Given the description of an element on the screen output the (x, y) to click on. 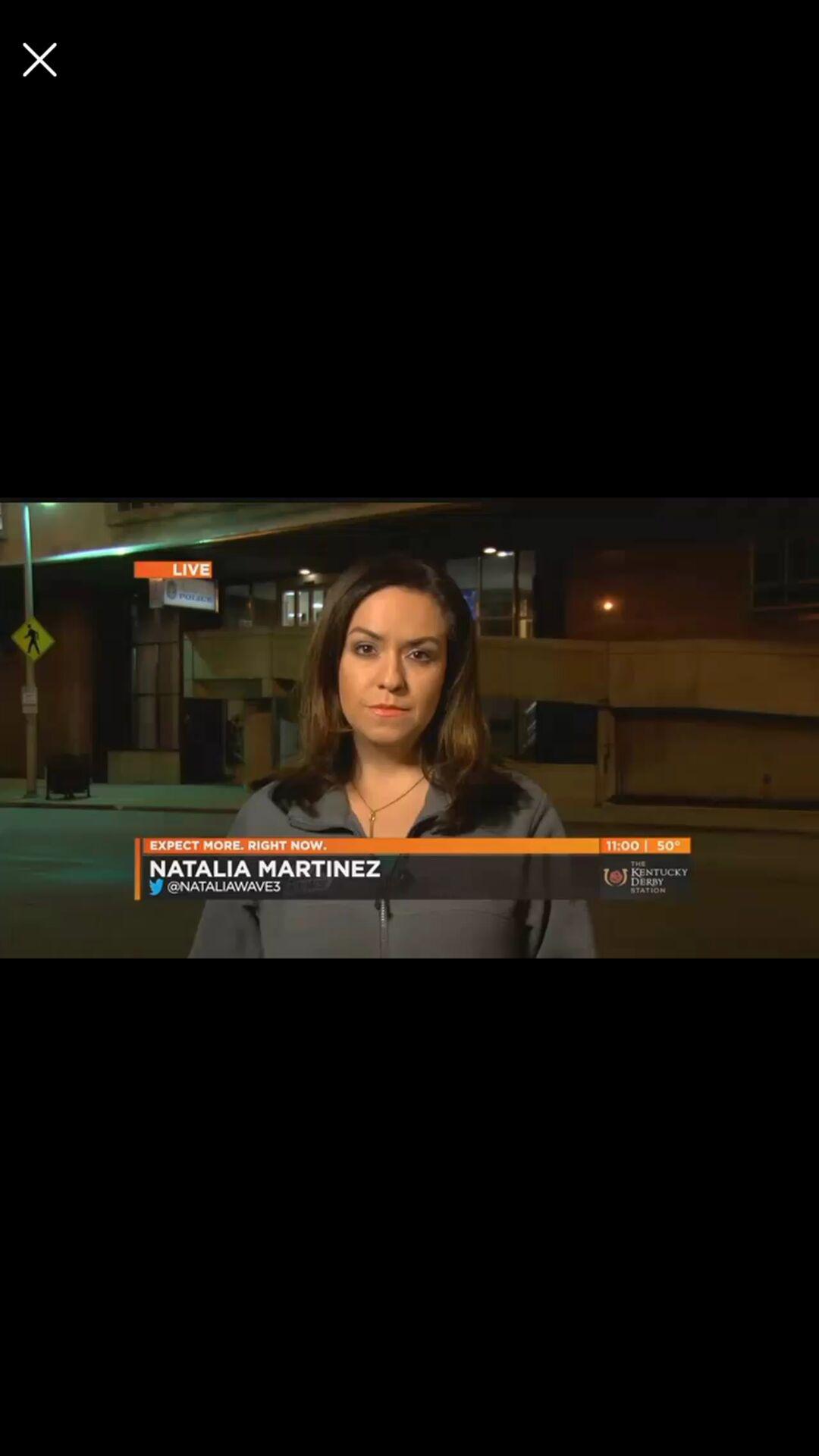
close (39, 59)
